Given the description of an element on the screen output the (x, y) to click on. 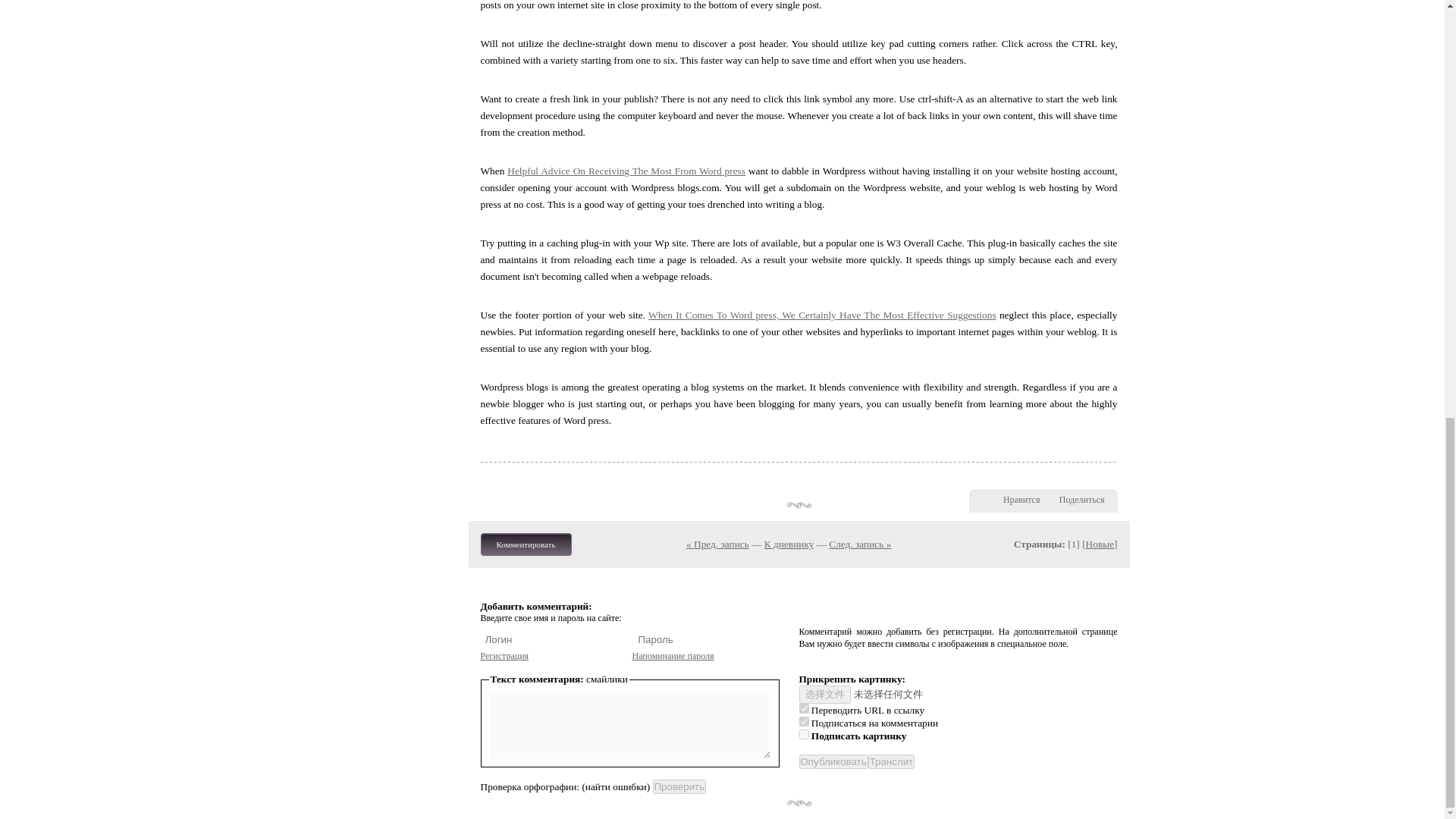
yes (804, 721)
1 (804, 734)
yes (804, 708)
